Given the description of an element on the screen output the (x, y) to click on. 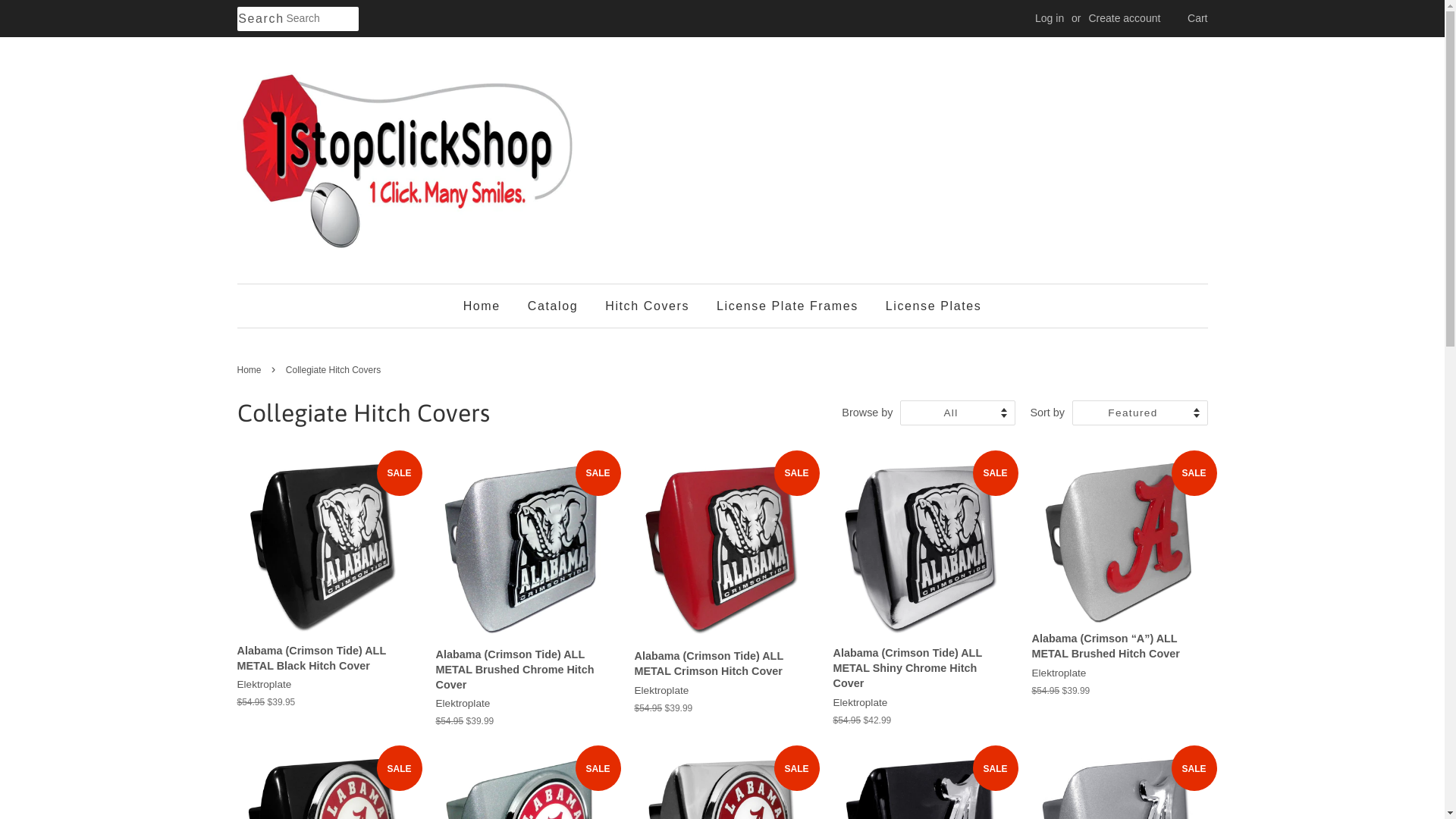
Create account Element type: text (1124, 18)
Cart Element type: text (1197, 18)
Log in Element type: text (1049, 18)
License Plates Element type: text (927, 305)
Search Element type: text (260, 18)
Home Element type: text (250, 369)
Hitch Covers Element type: text (646, 305)
Home Element type: text (487, 305)
Catalog Element type: text (552, 305)
License Plate Frames Element type: text (787, 305)
